Given the description of an element on the screen output the (x, y) to click on. 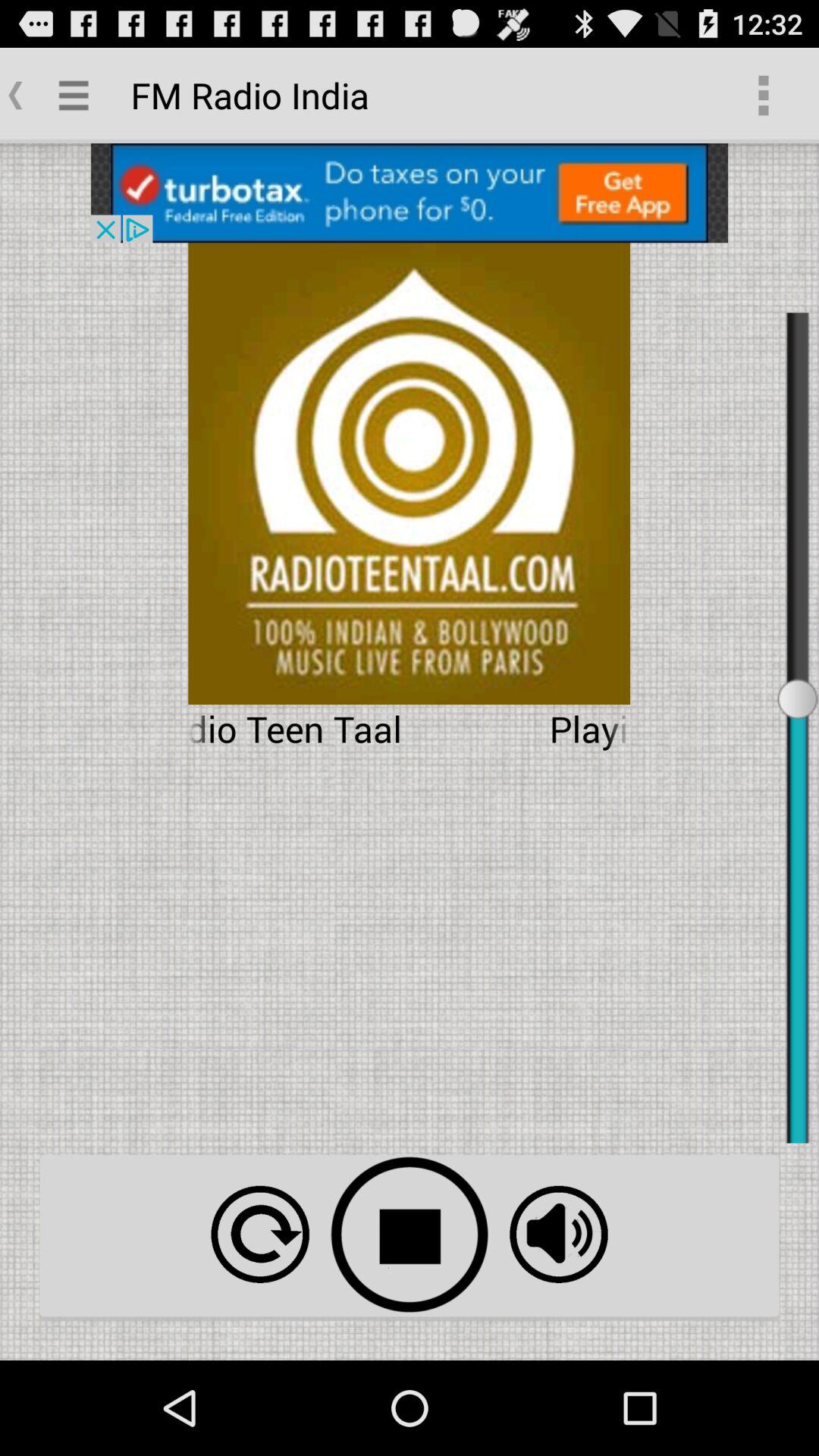
stop option (409, 1234)
